Given the description of an element on the screen output the (x, y) to click on. 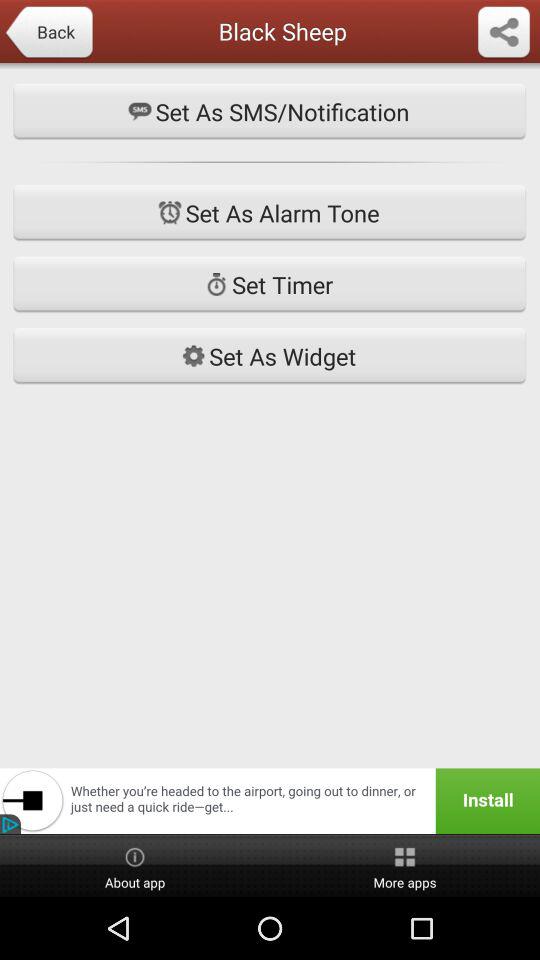
launch the icon at the bottom left corner (135, 866)
